Given the description of an element on the screen output the (x, y) to click on. 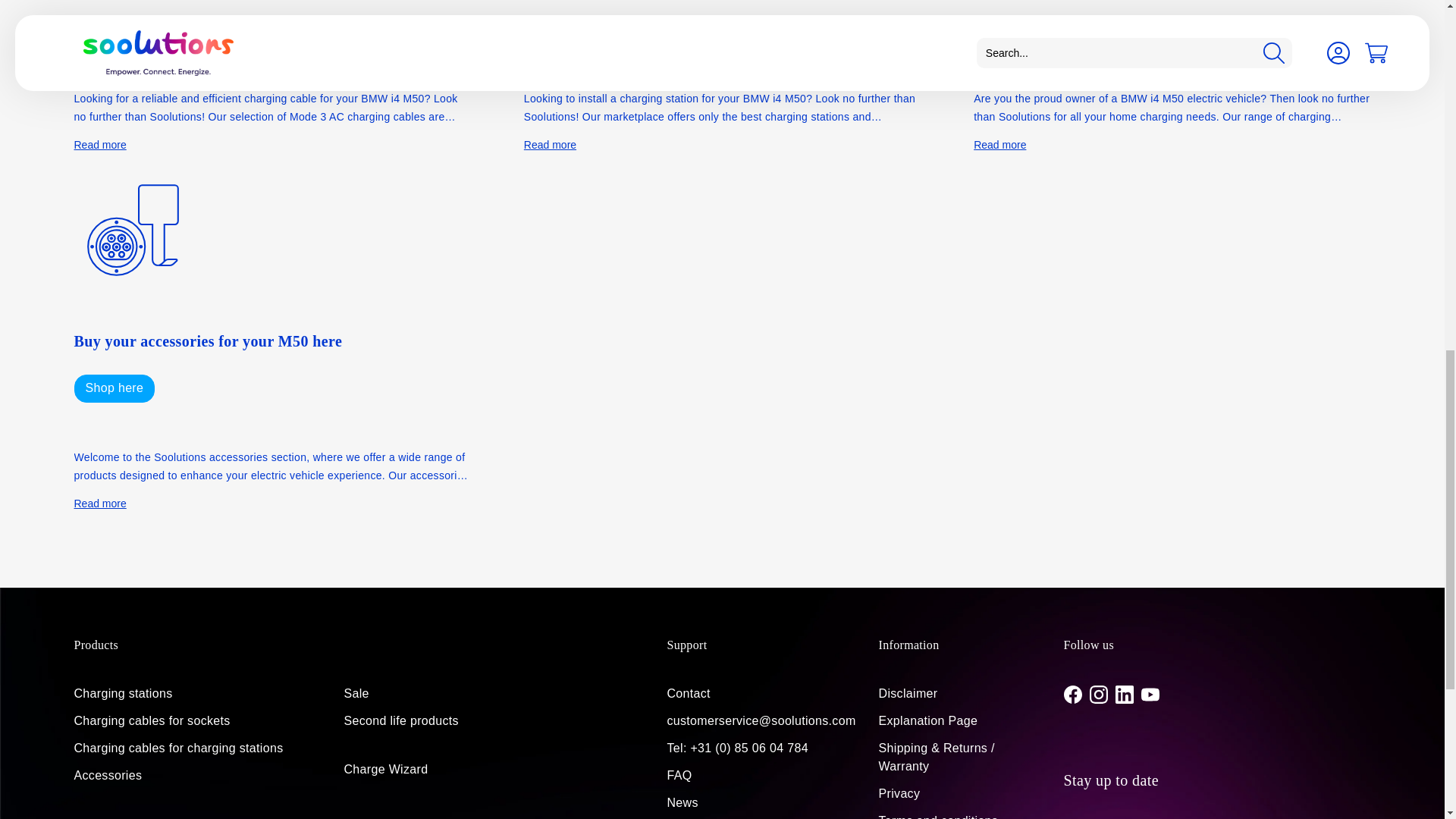
YouTube (1149, 694)
LinkedIn (1123, 694)
Facebook (1071, 694)
Instagram (1097, 694)
